Given the description of an element on the screen output the (x, y) to click on. 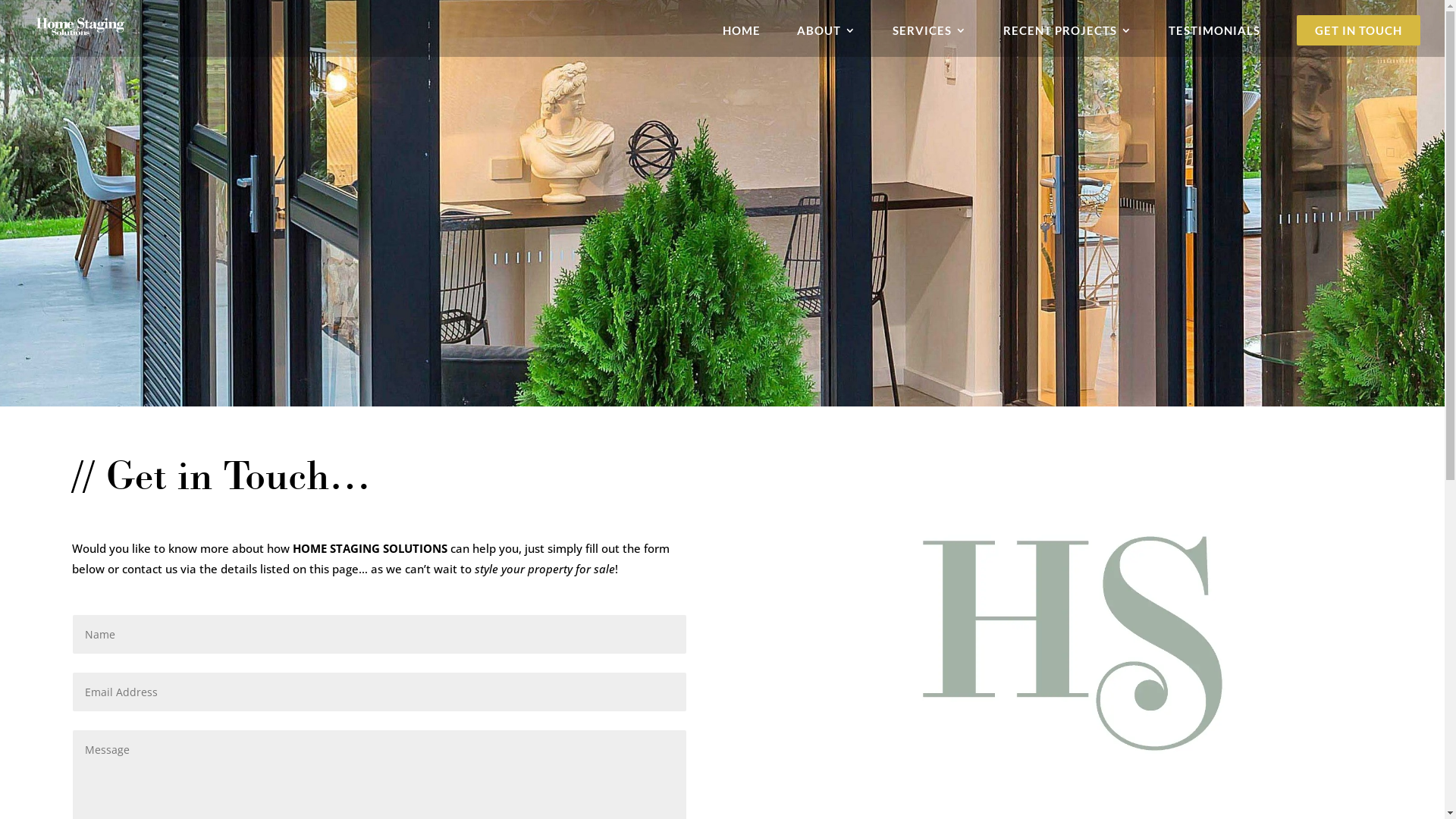
ABOUT Element type: text (826, 34)
RECENT PROJECTS Element type: text (1067, 34)
HOME Element type: text (741, 34)
GET IN TOUCH Element type: text (1358, 34)
TESTIMONIALS Element type: text (1214, 34)
SERVICES Element type: text (929, 34)
